Given the description of an element on the screen output the (x, y) to click on. 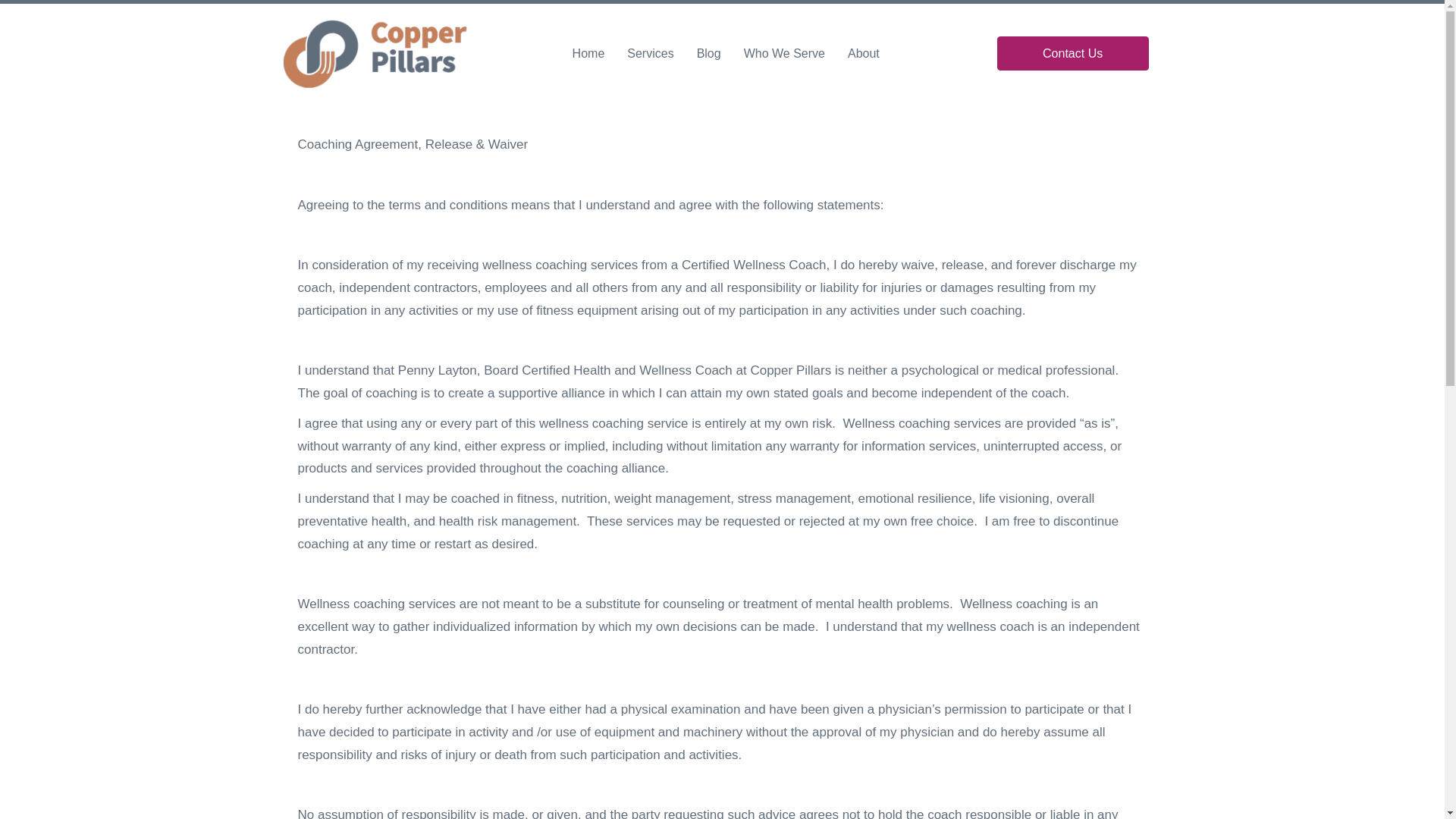
Contact Us (1072, 53)
Services (650, 53)
Blog (708, 53)
About (863, 53)
Home (588, 53)
logo (374, 52)
Who We Serve (784, 53)
